Given the description of an element on the screen output the (x, y) to click on. 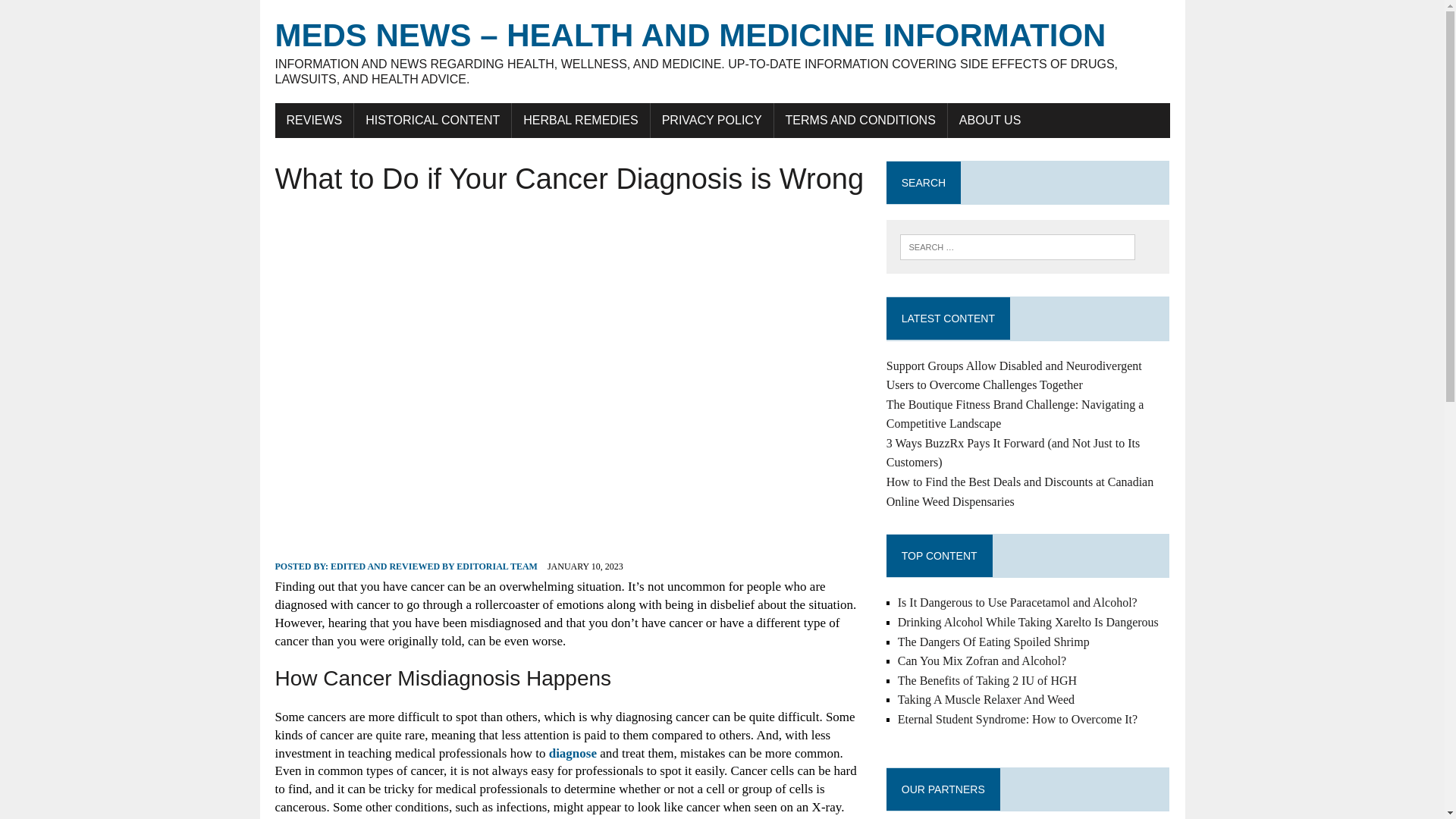
REVIEWS (314, 120)
HISTORICAL CONTENT (432, 120)
Eternal Student Syndrome: How to Overcome It? (1017, 718)
Is It Dangerous to Use Paracetamol and Alcohol? (1017, 602)
ABOUT US (989, 120)
HERBAL REMEDIES (580, 120)
Can You Mix Zofran and Alcohol? (981, 660)
diagnose (572, 753)
